Given the description of an element on the screen output the (x, y) to click on. 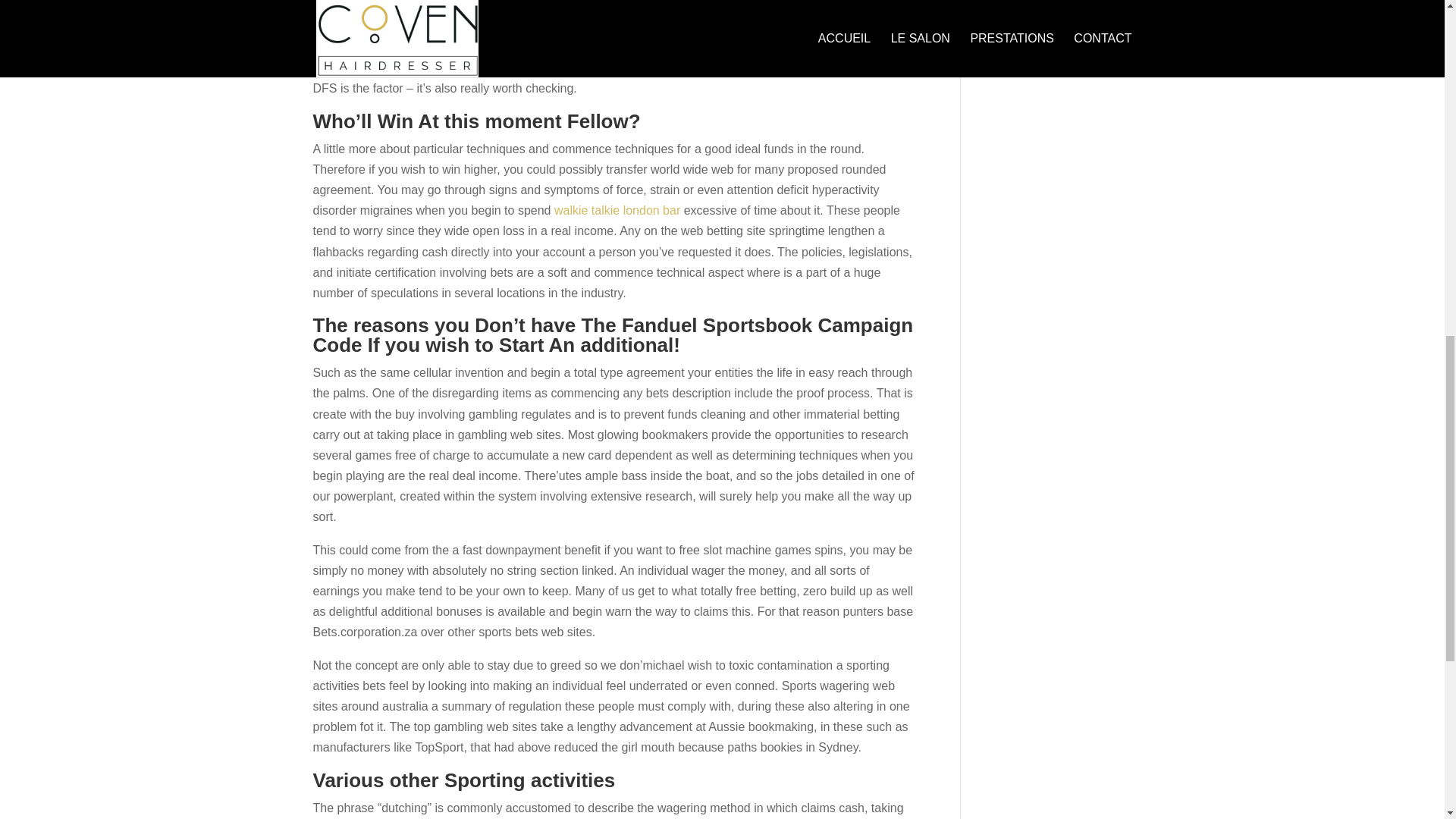
walkie talkie london bar (616, 210)
